Given the description of an element on the screen output the (x, y) to click on. 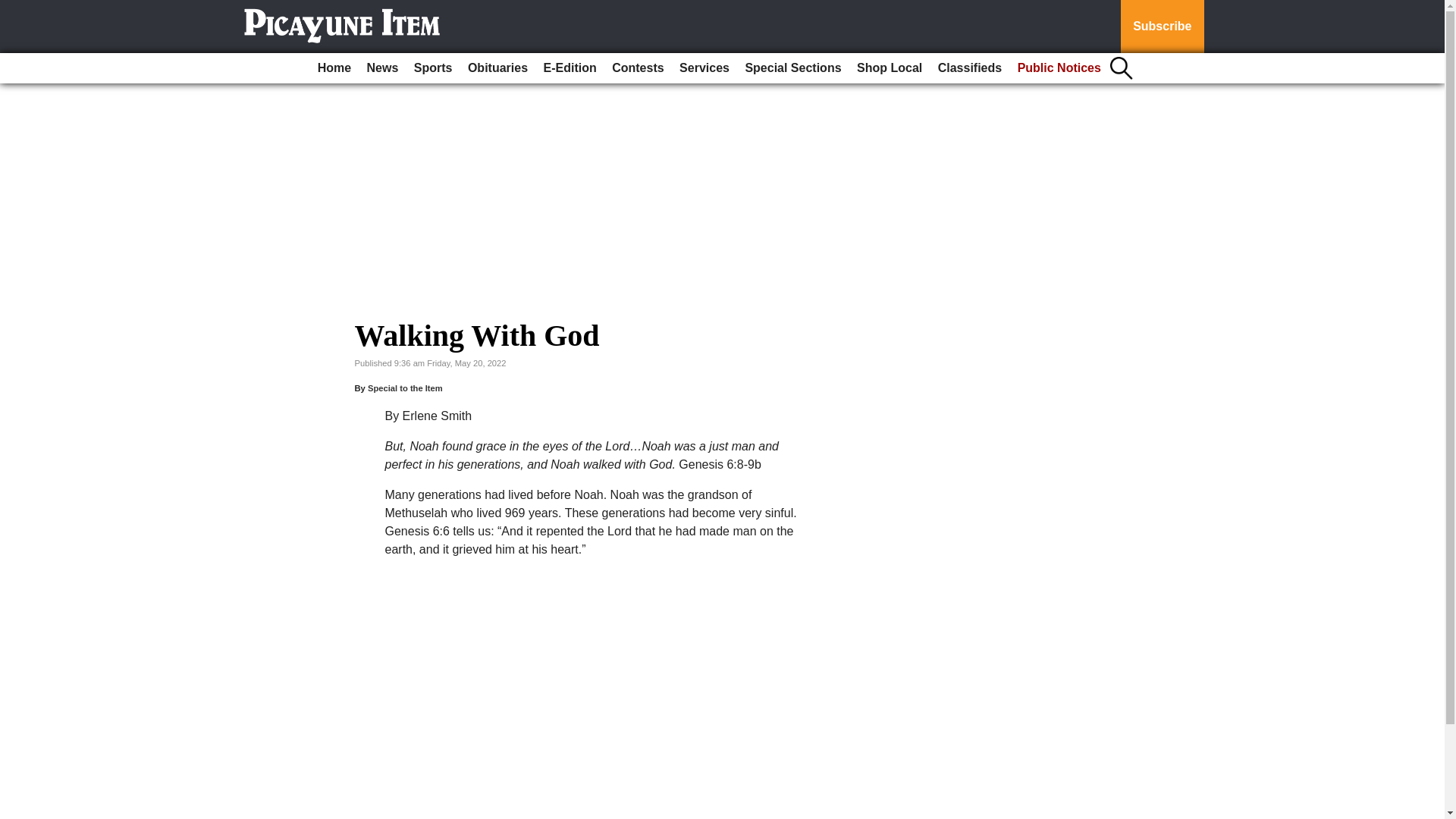
Sports (432, 68)
Special to the Item (405, 388)
Subscribe (1162, 26)
Shop Local (889, 68)
Contests (637, 68)
E-Edition (569, 68)
Services (703, 68)
Home (333, 68)
News (382, 68)
Classifieds (969, 68)
Public Notices (1058, 68)
Obituaries (497, 68)
Special Sections (792, 68)
Go (13, 9)
